Given the description of an element on the screen output the (x, y) to click on. 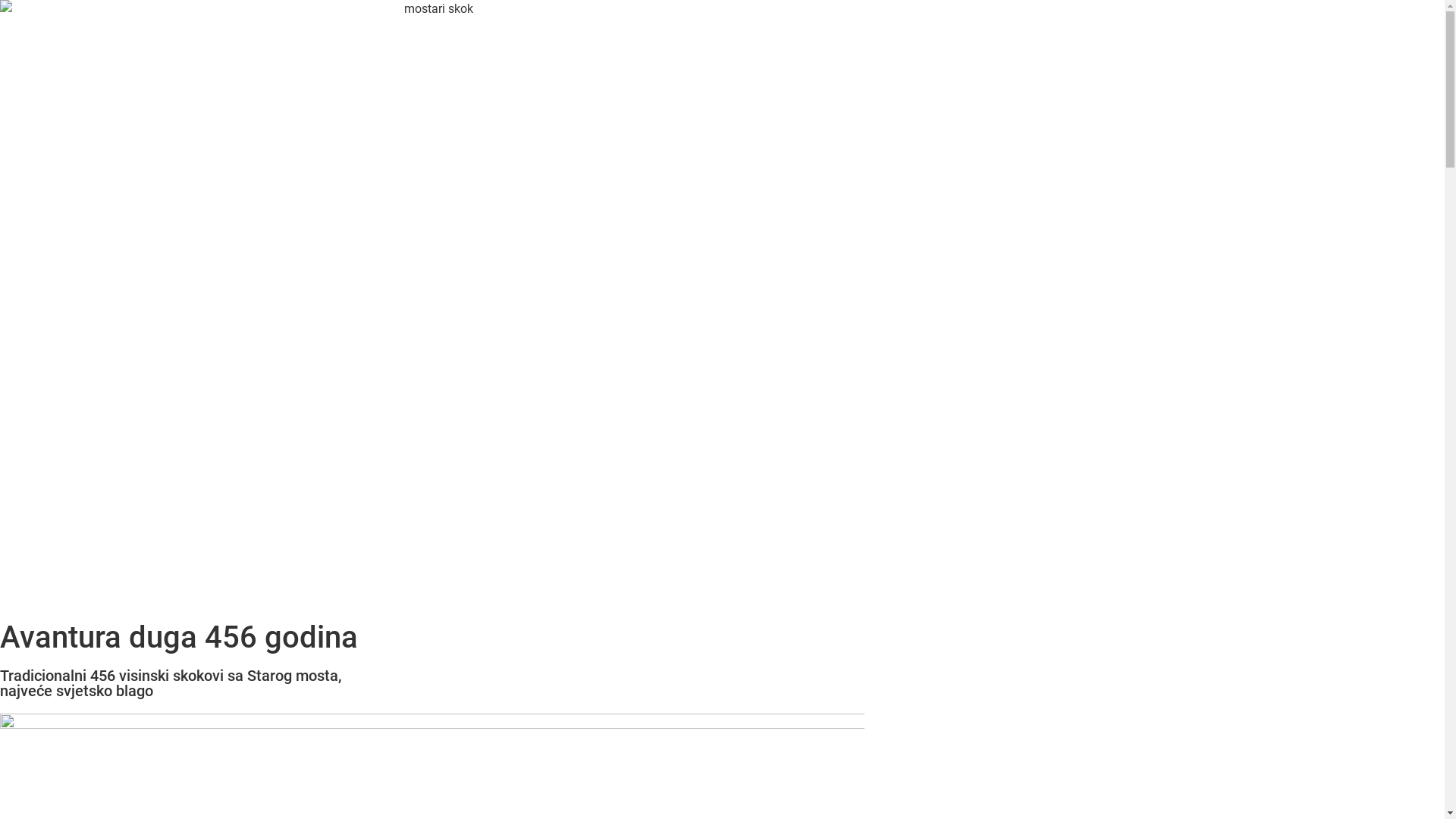
Skip to content Element type: text (0, 0)
